Given the description of an element on the screen output the (x, y) to click on. 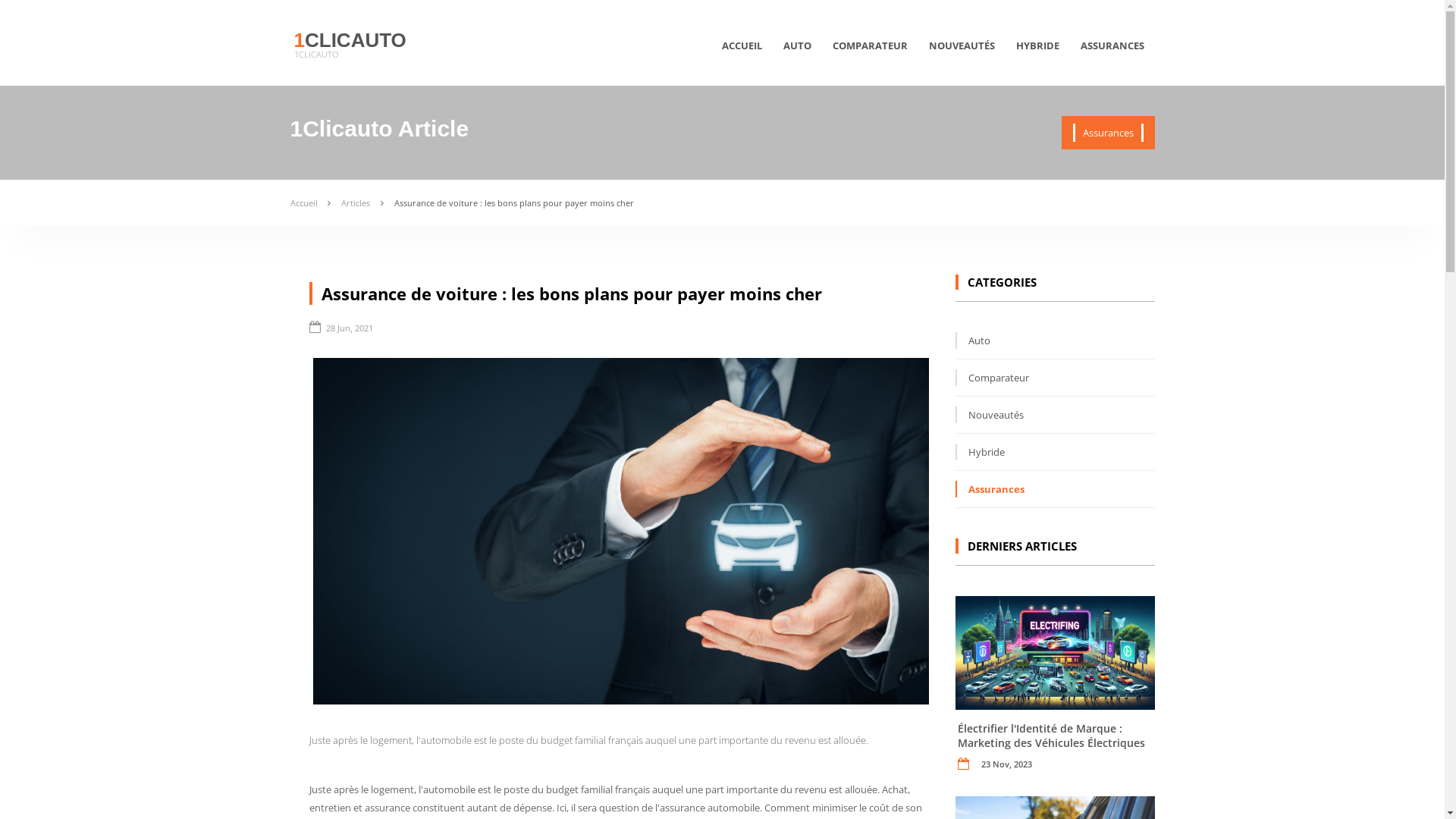
Comparateur Element type: text (992, 377)
Hybride Element type: text (979, 451)
1CLICAUTO Element type: text (316, 53)
HYBRIDE Element type: text (1037, 50)
Auto Element type: text (972, 340)
AUTO Element type: text (796, 50)
1CLICAUTO Element type: text (350, 39)
Accueil Element type: text (302, 202)
ASSURANCES Element type: text (1111, 50)
Assurances Element type: text (989, 488)
ACCUEIL Element type: text (741, 50)
COMPARATEUR Element type: text (870, 50)
